Given the description of an element on the screen output the (x, y) to click on. 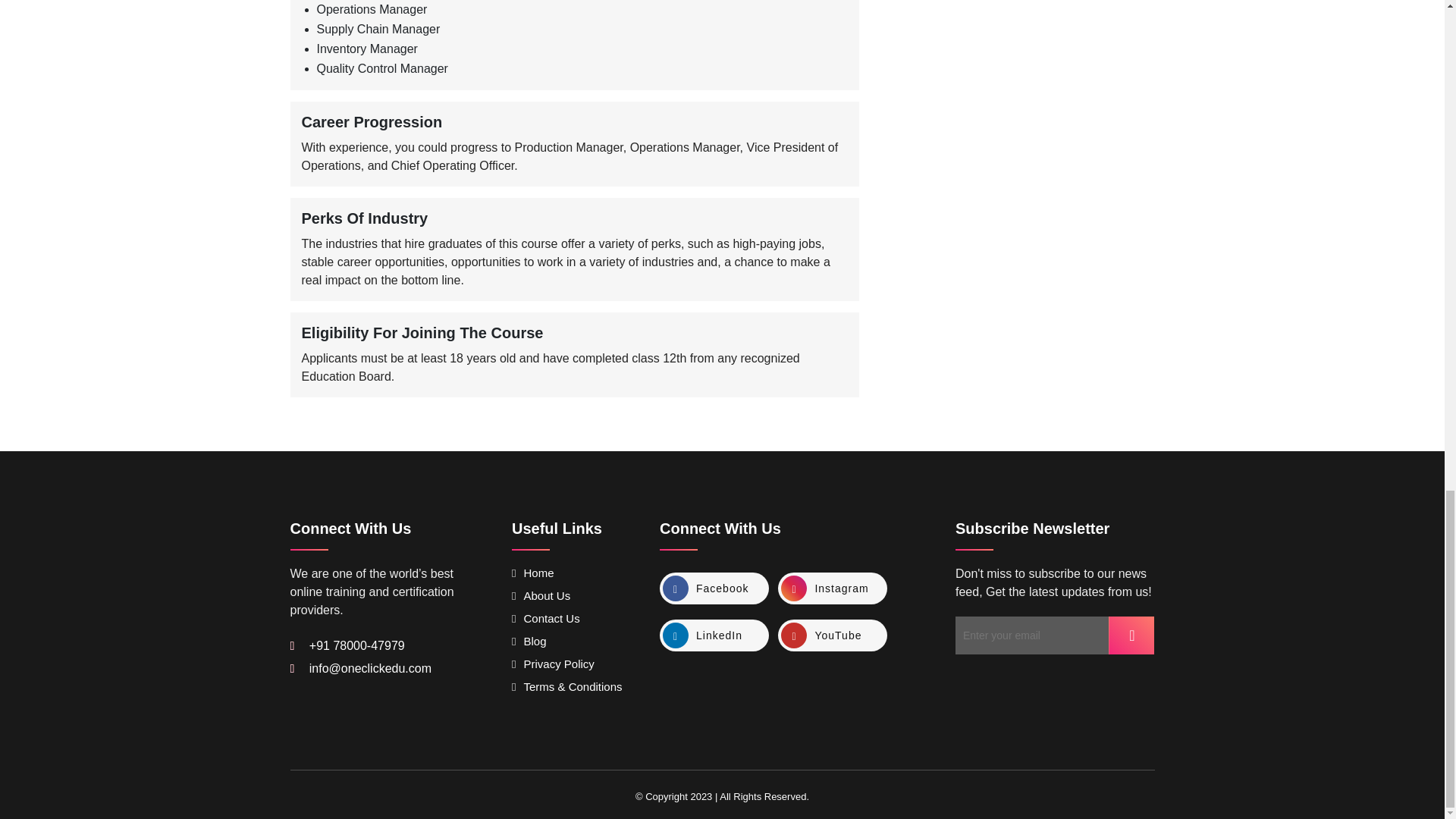
About Us (541, 594)
LinkedIn (713, 635)
Blog (529, 640)
Instagram (831, 588)
YouTube (831, 635)
Home (533, 572)
Privacy Policy (553, 663)
Facebook (713, 588)
Contact Us (545, 617)
